Given the description of an element on the screen output the (x, y) to click on. 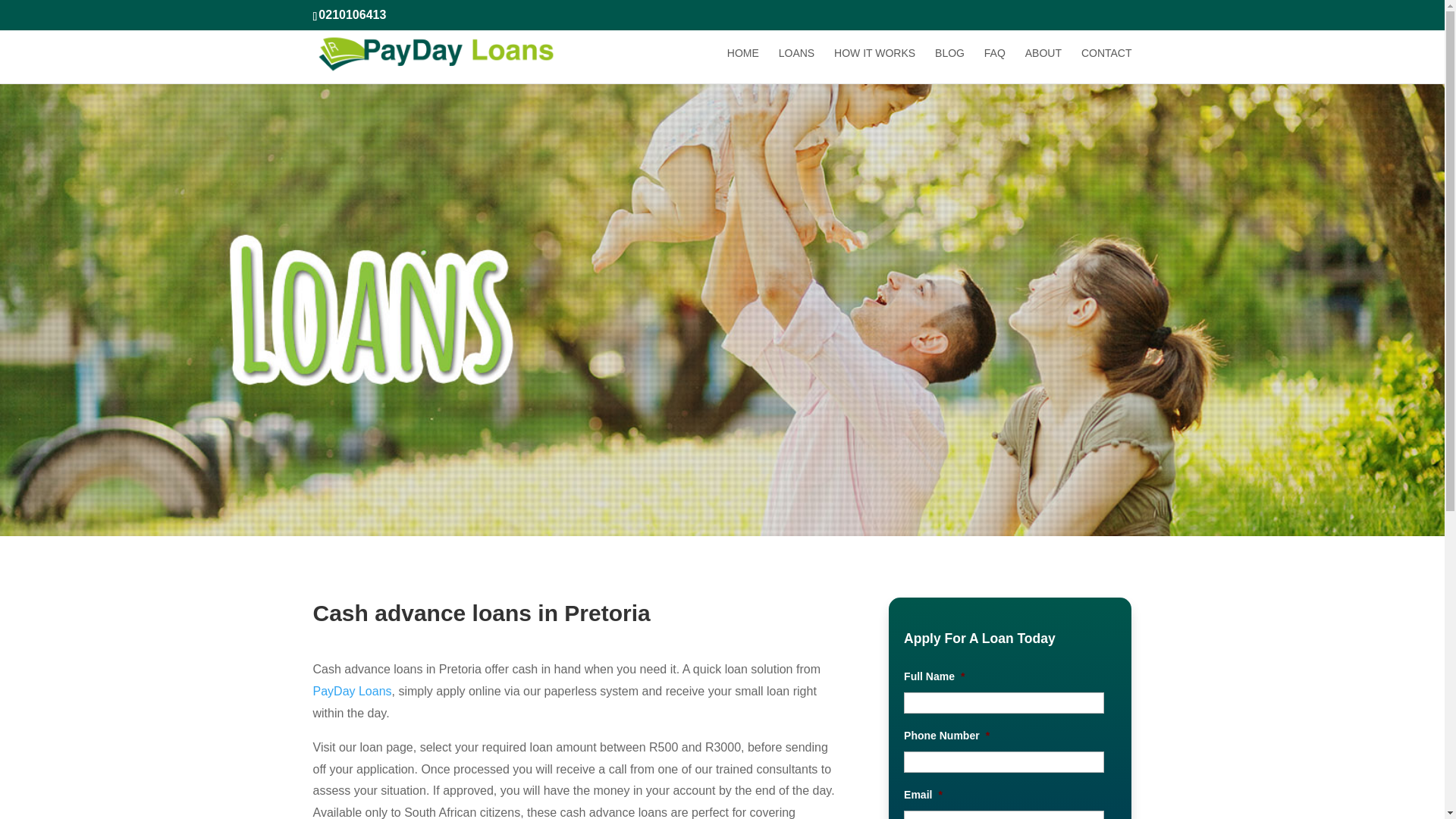
LOANS (795, 65)
HOME (742, 65)
0210106413 (351, 14)
ABOUT (1043, 65)
HOW IT WORKS (874, 65)
PayDay Loans (352, 690)
CONTACT (1106, 65)
